Given the description of an element on the screen output the (x, y) to click on. 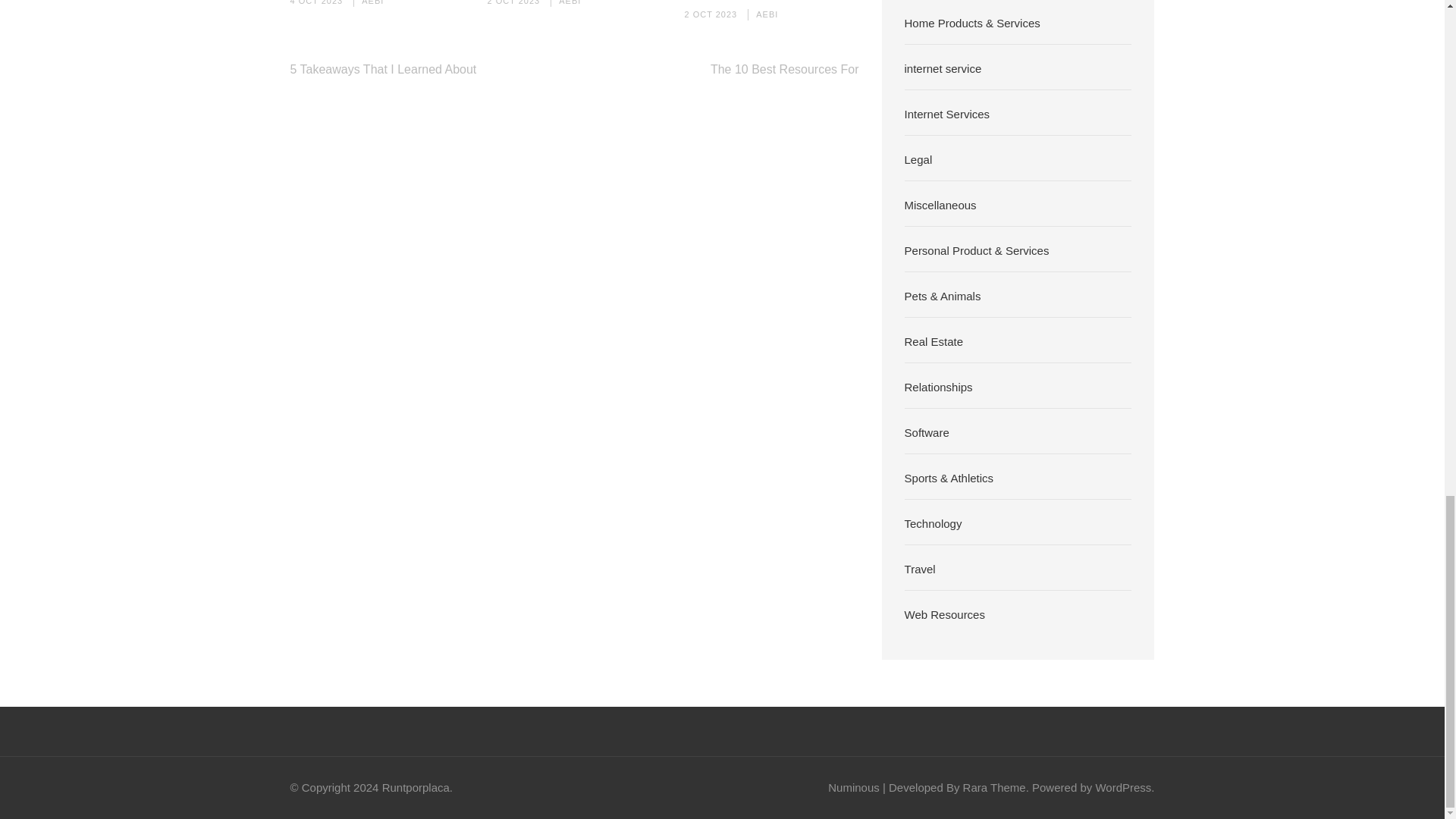
2 OCT 2023 (710, 13)
5 Takeaways That I Learned About (382, 69)
2 OCT 2023 (513, 2)
AEBI (766, 13)
AEBI (372, 2)
The 10 Best Resources For (784, 69)
4 OCT 2023 (315, 2)
AEBI (569, 2)
